Given the description of an element on the screen output the (x, y) to click on. 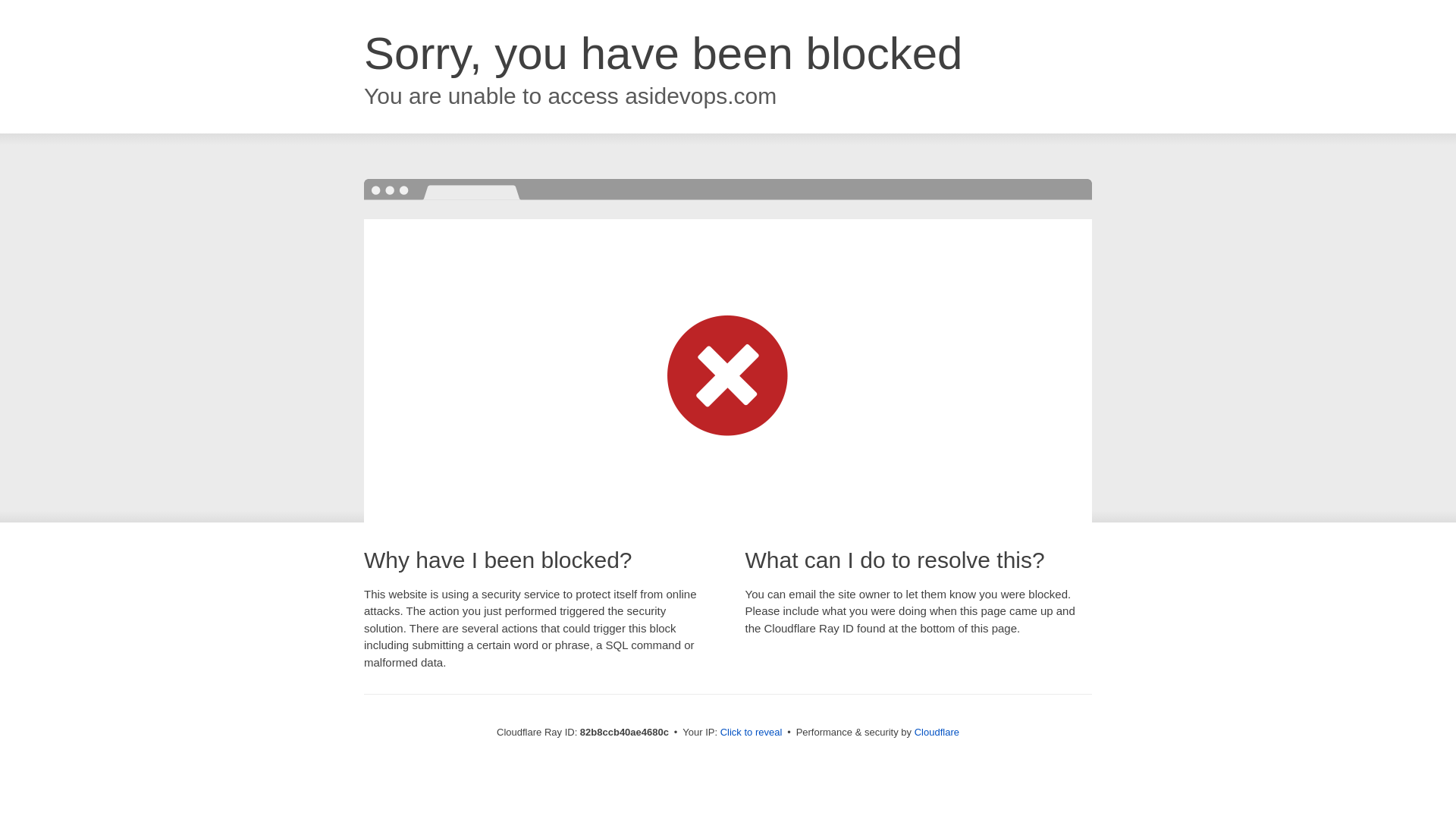
Cloudflare Element type: text (936, 731)
Click to reveal Element type: text (751, 732)
